Given the description of an element on the screen output the (x, y) to click on. 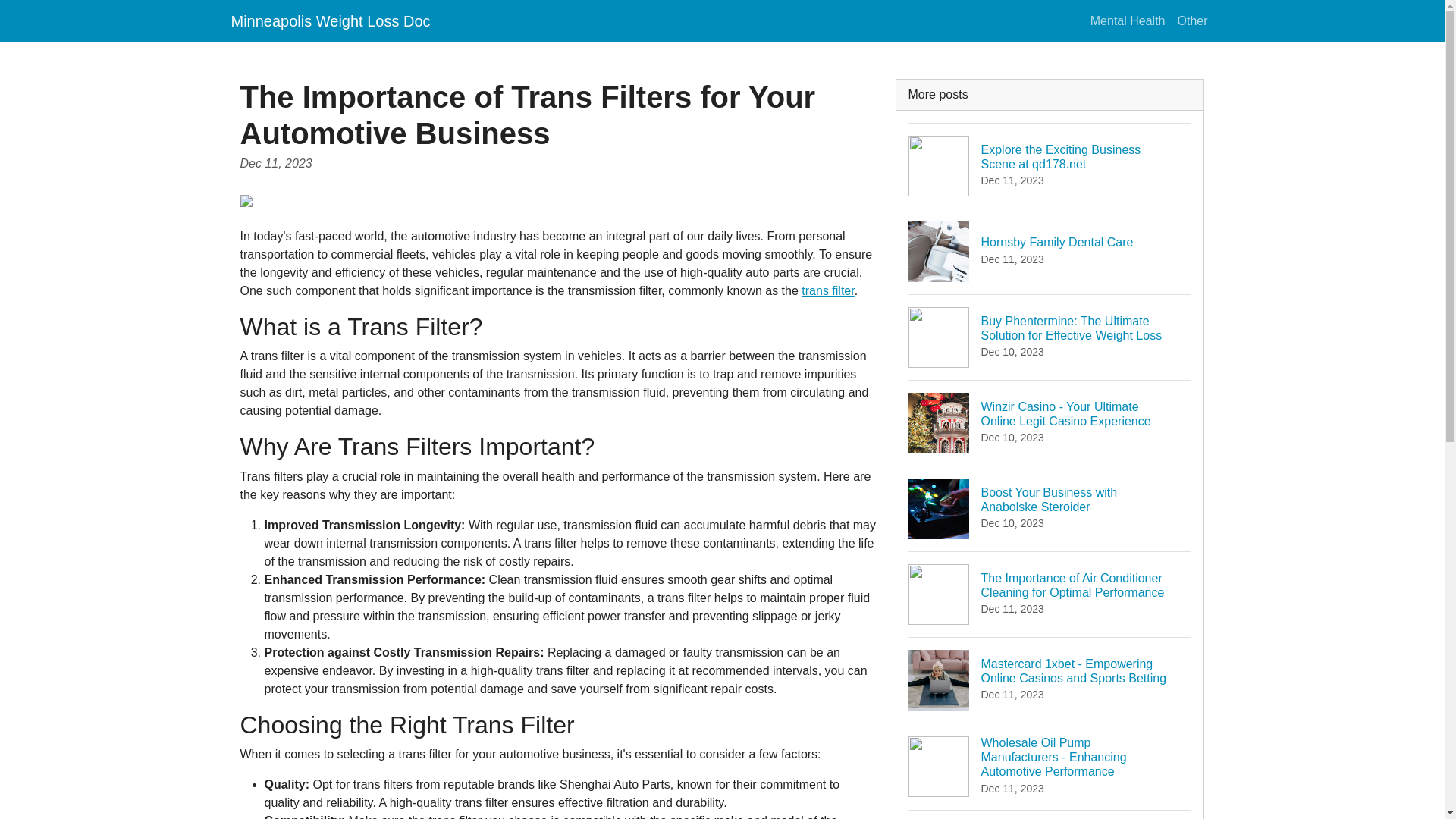
Minneapolis Weight Loss Doc (1050, 251)
Other (329, 20)
Mental Health (1191, 20)
trans filter (1128, 20)
